Given the description of an element on the screen output the (x, y) to click on. 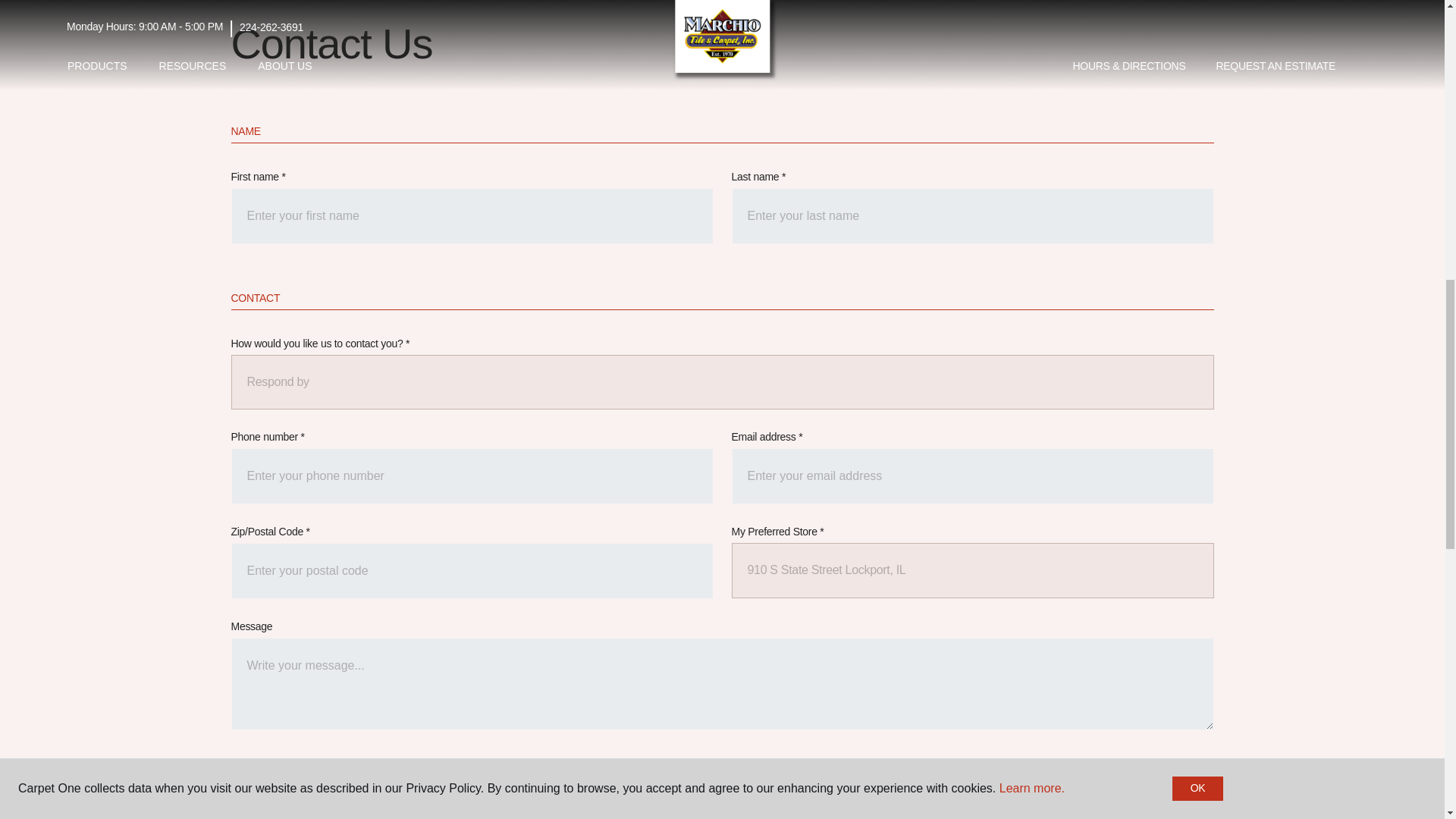
CleanHomePhone (471, 475)
MyMessage (721, 684)
PostalCode (471, 570)
FirstName (471, 216)
EmailAddress (971, 475)
LastName (971, 216)
